Given the description of an element on the screen output the (x, y) to click on. 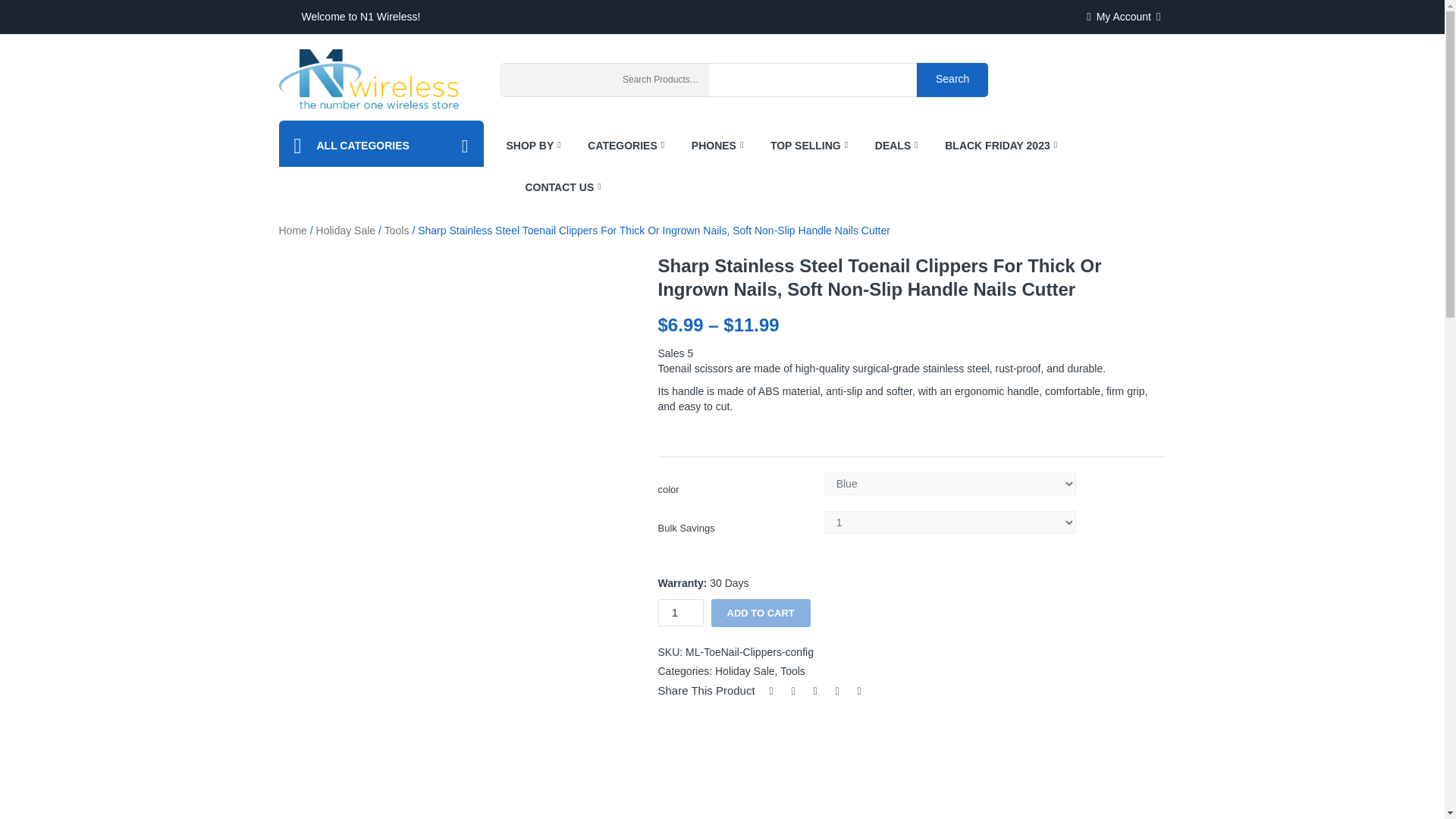
SHOP BY (537, 146)
N1 Wireless (368, 78)
Search for: (765, 79)
CATEGORIES (620, 146)
Search (952, 79)
1 (680, 612)
